Given the description of an element on the screen output the (x, y) to click on. 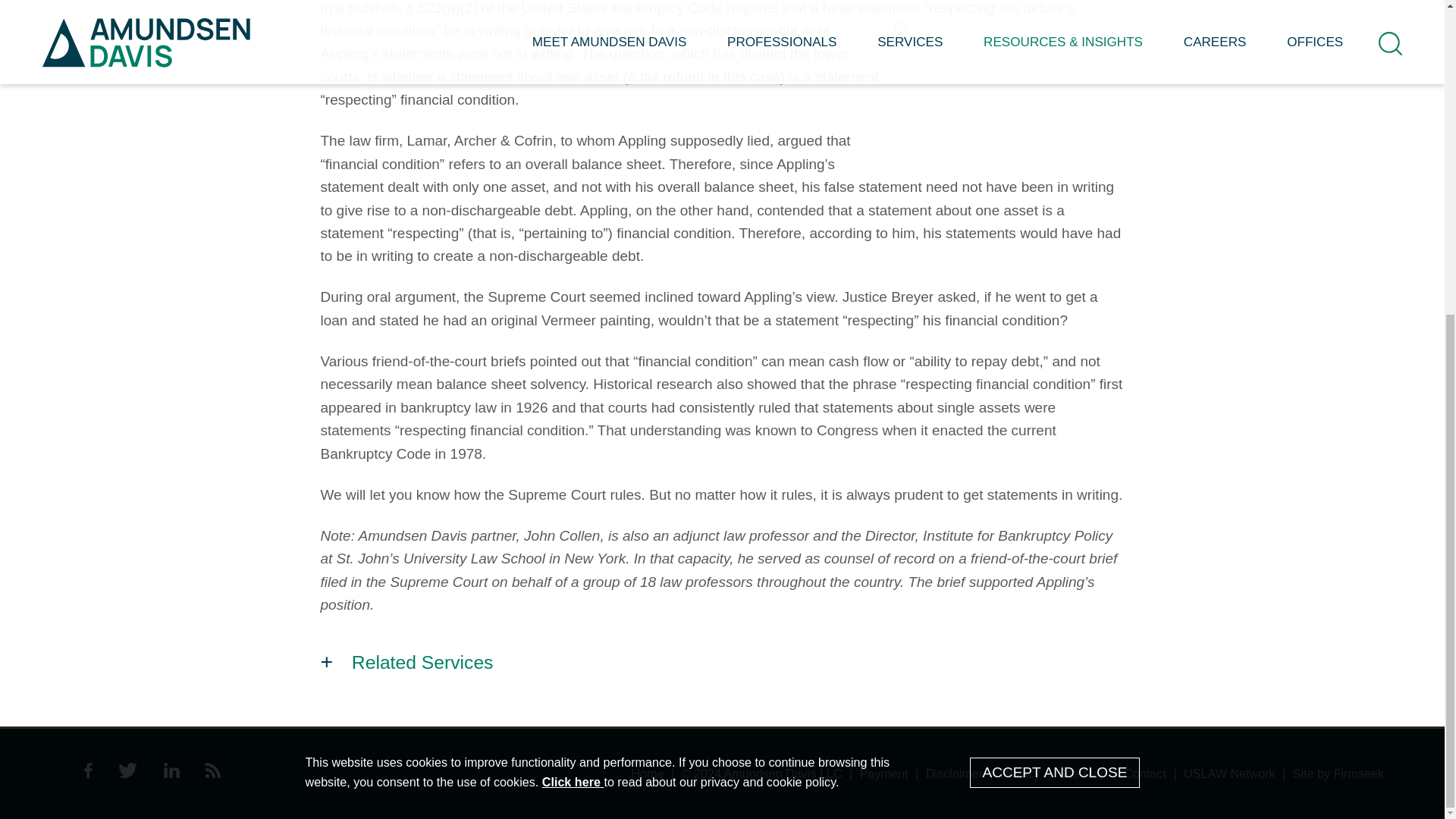
RSS Icon (213, 770)
twitter Icon (126, 770)
LinkedIn (171, 772)
Facebook (88, 772)
twitter (127, 772)
LinkedIn Icon (171, 770)
Data Privacy and Cookie Policy (572, 278)
Facebook Icon (88, 770)
